Given the description of an element on the screen output the (x, y) to click on. 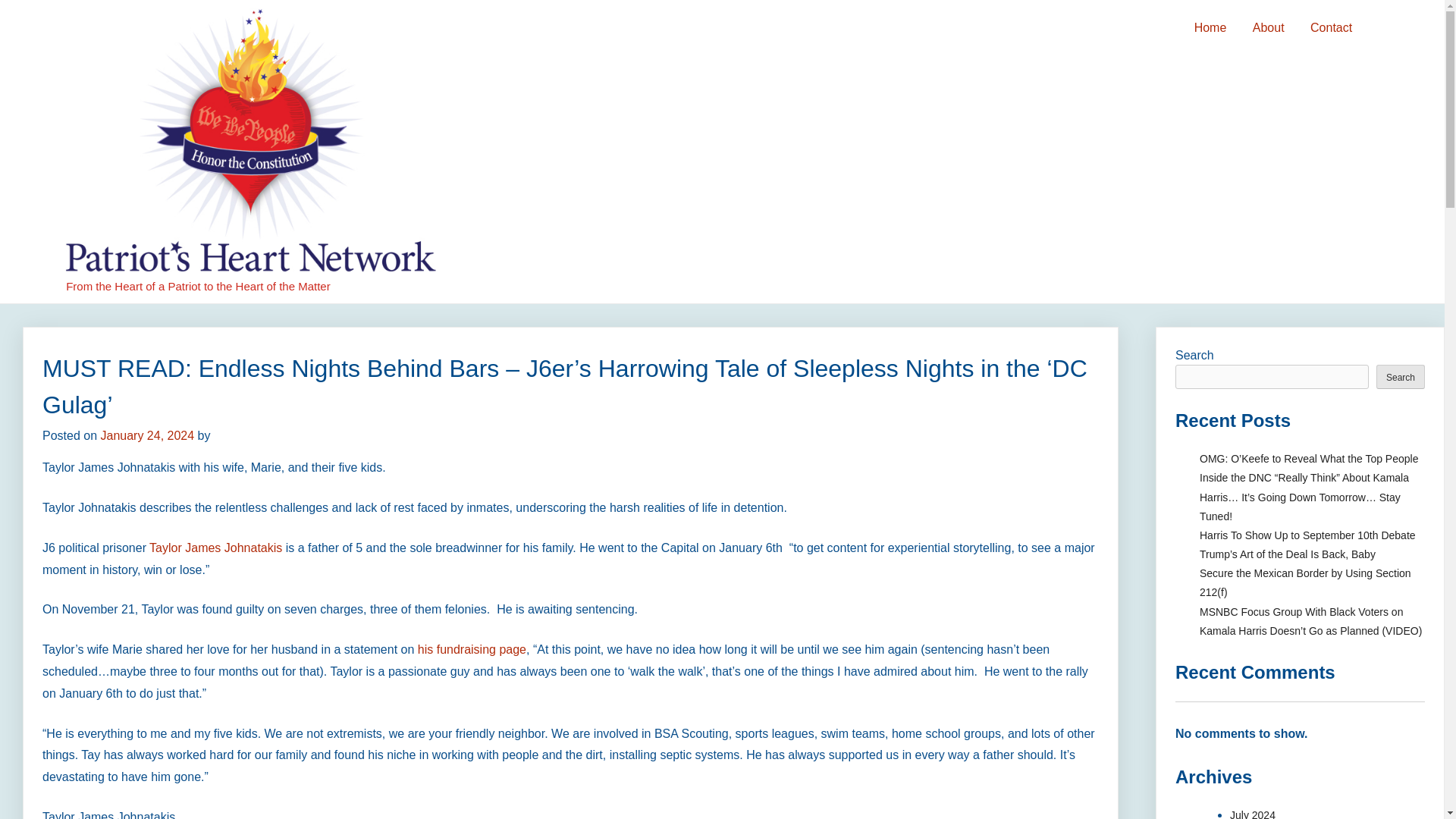
Search (1400, 376)
Taylor James Johnatakis (215, 547)
Harris To Show Up to September 10th Debate (1307, 535)
July 2024 (1252, 814)
his fundraising page (471, 649)
Home (1210, 28)
January 24, 2024 (146, 435)
About (1268, 28)
Contact (1330, 28)
